Given the description of an element on the screen output the (x, y) to click on. 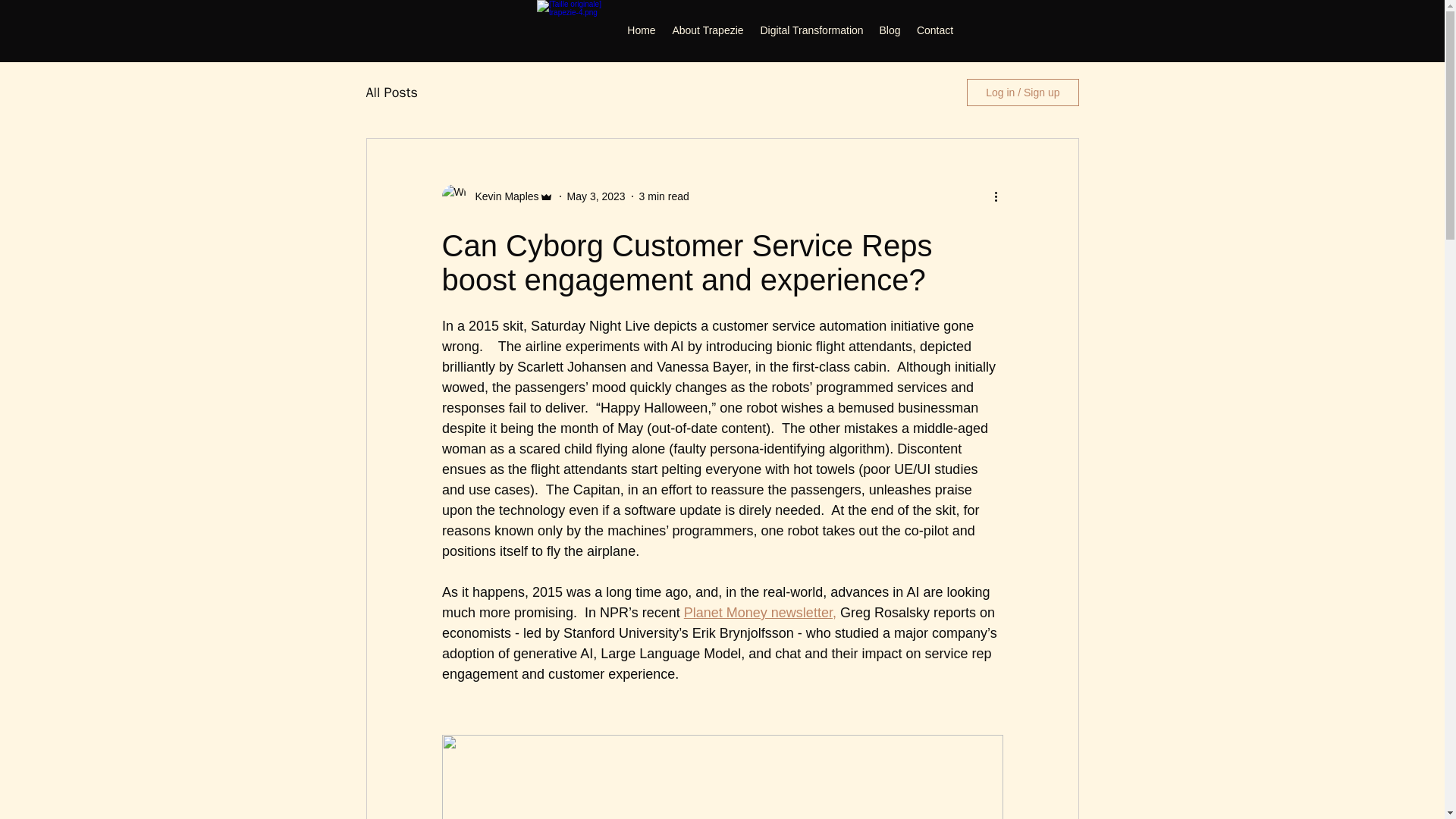
Home (641, 29)
Digital Transformation (811, 29)
About Trapezie (707, 29)
All Posts (390, 92)
May 3, 2023 (596, 195)
3 min read (663, 195)
Contact (934, 29)
Planet Money newsletter, (758, 612)
Kevin Maples (501, 195)
Blog (889, 29)
